Given the description of an element on the screen output the (x, y) to click on. 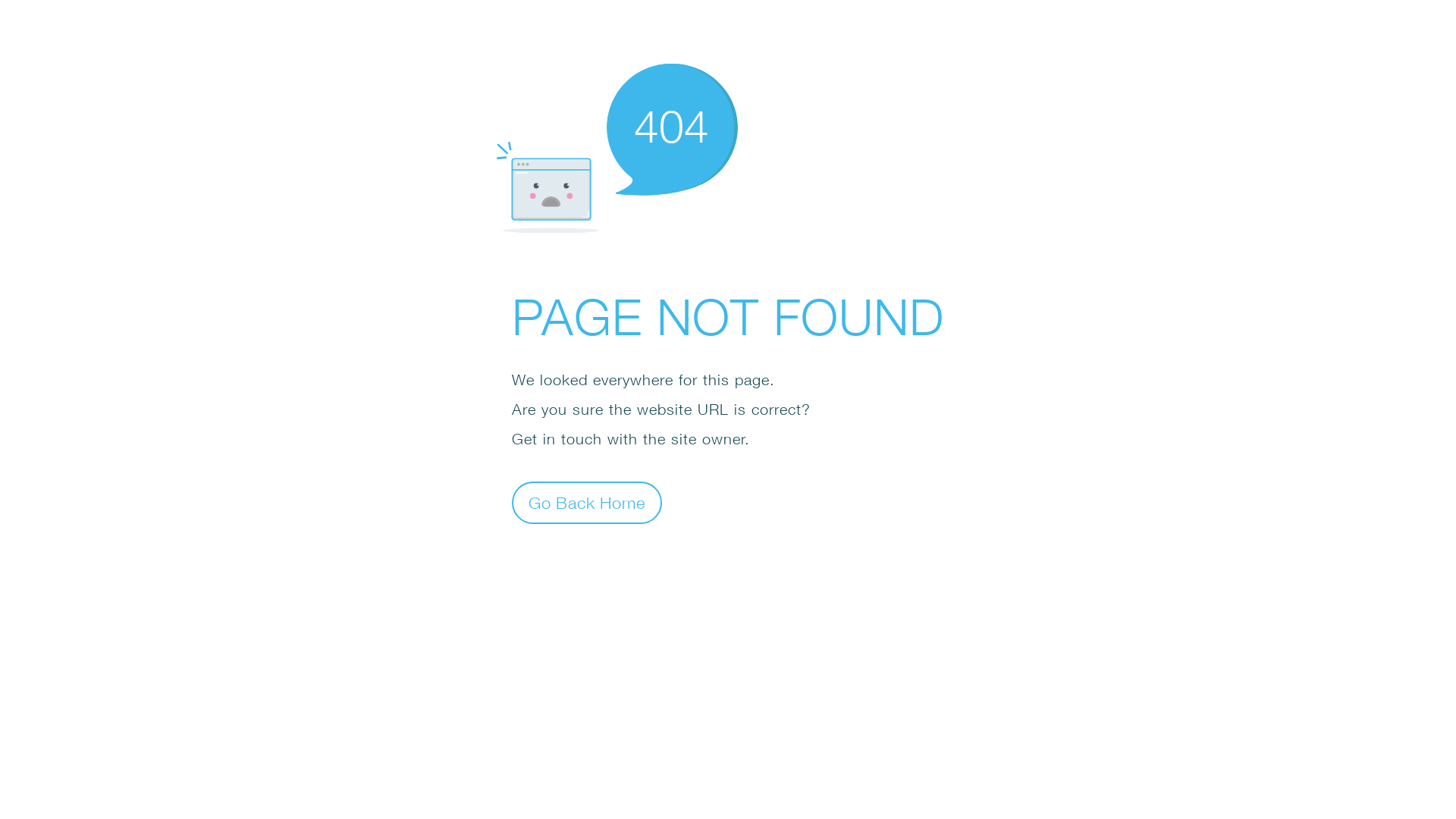
Go Back Home Element type: text (586, 502)
